Given the description of an element on the screen output the (x, y) to click on. 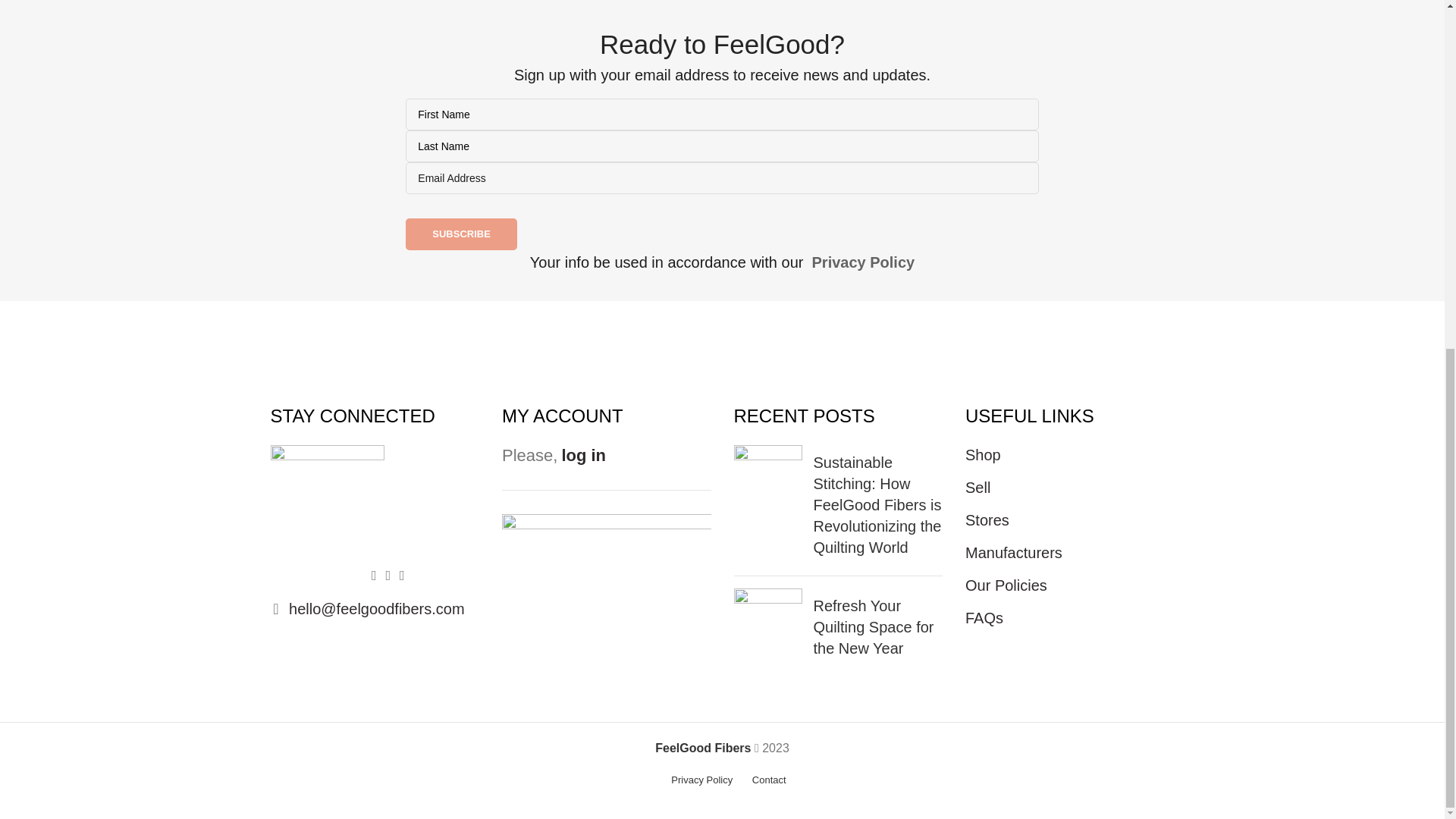
Subscribe (461, 234)
Permalink to Refresh Your Quilting Space for the New Year (872, 626)
